Given the description of an element on the screen output the (x, y) to click on. 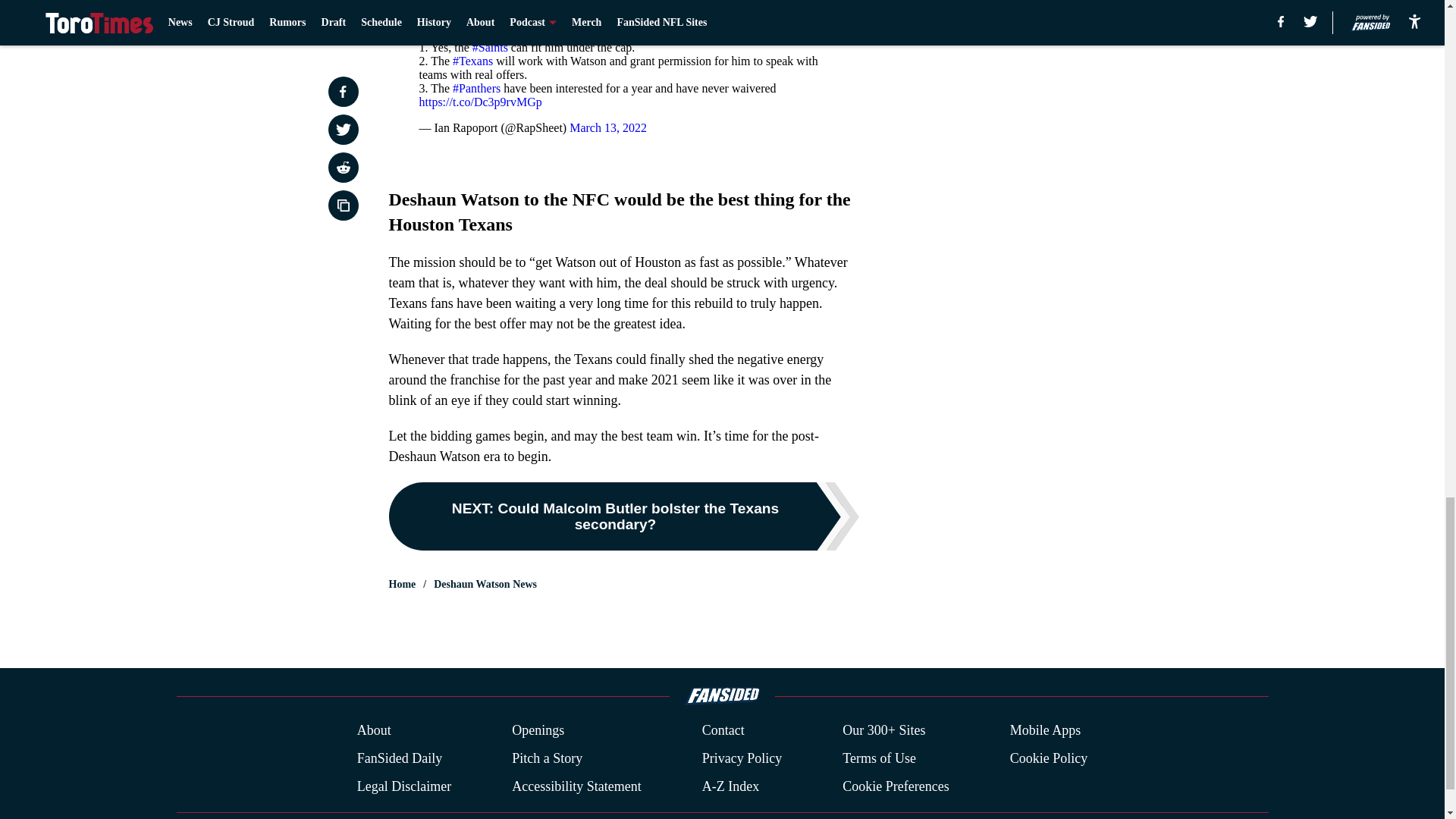
Deshaun Watson News (485, 584)
Pitch a Story (547, 758)
Mobile Apps (1045, 730)
March 13, 2022 (607, 127)
Contact (722, 730)
About (373, 730)
Privacy Policy (742, 758)
Home (401, 584)
Openings (538, 730)
NEXT: Could Malcolm Butler bolster the Texans secondary? (623, 516)
